Given the description of an element on the screen output the (x, y) to click on. 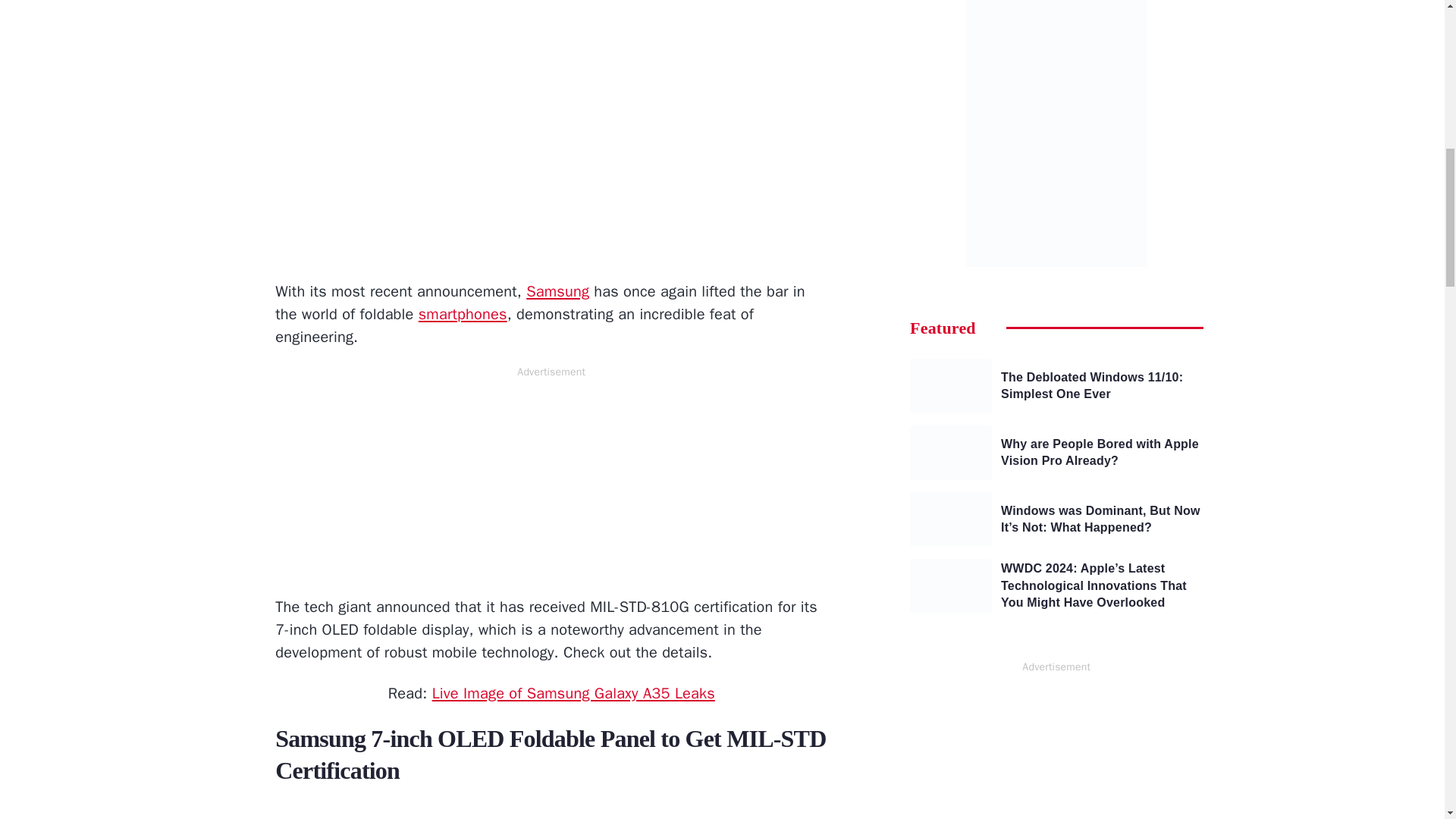
Samsung (557, 291)
smartphones (462, 313)
Live Image of Samsung Galaxy A35 Leaks (573, 692)
